Given the description of an element on the screen output the (x, y) to click on. 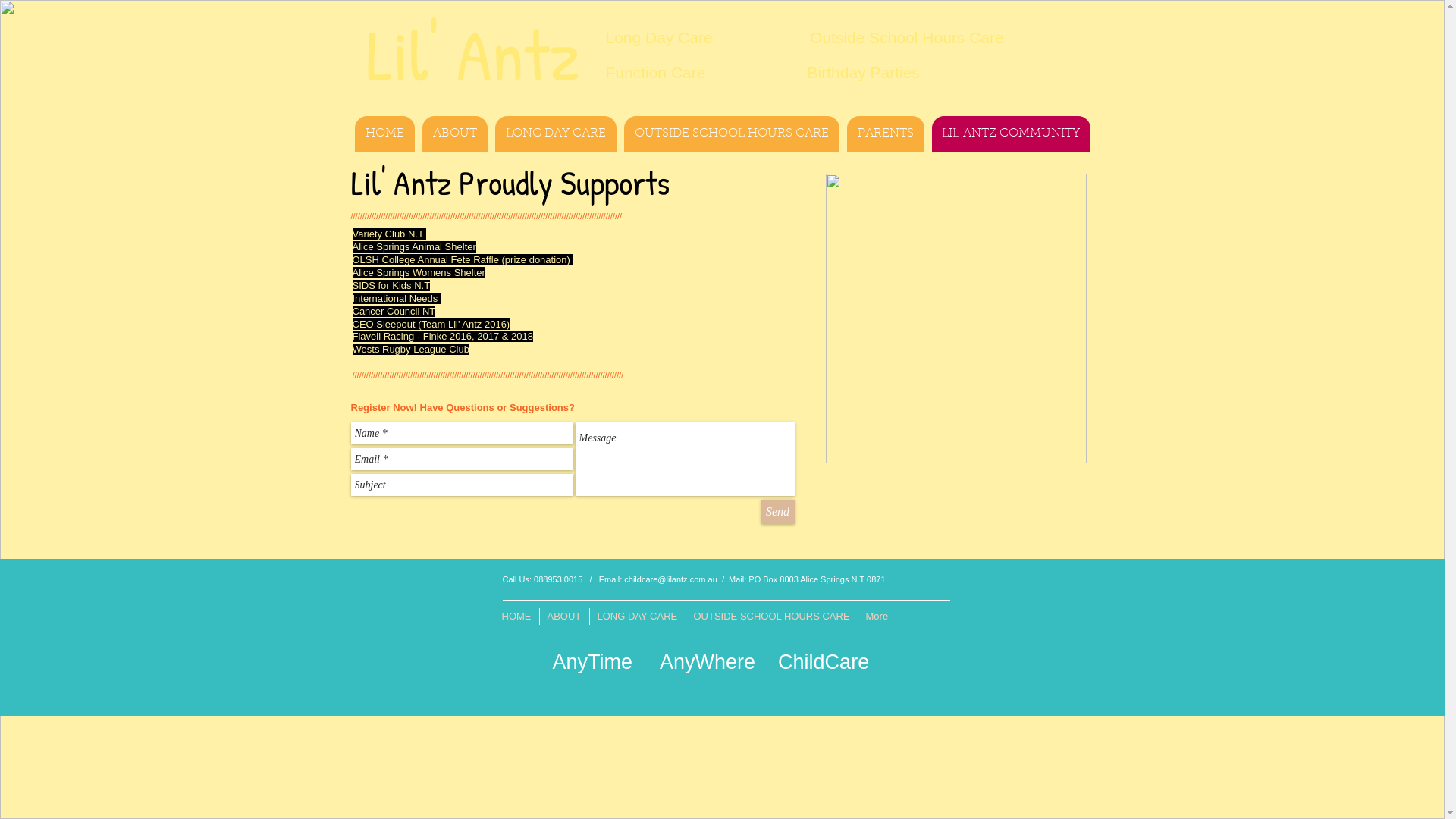
HOME Element type: text (384, 132)
PARENTS Element type: text (884, 132)
LONG DAY CARE Element type: text (636, 616)
ABOUT Element type: text (563, 616)
Send Element type: text (777, 511)
childcare@lilantz.com.au Element type: text (670, 578)
ABOUT Element type: text (453, 132)
HOME Element type: text (516, 616)
OUTSIDE SCHOOL HOURS CARE Element type: text (730, 132)
DSCF8771.JPG Element type: hover (955, 317)
LONG DAY CARE Element type: text (554, 132)
LIL' ANTZ COMMUNITY Element type: text (1010, 132)
OUTSIDE SCHOOL HOURS CARE Element type: text (771, 616)
